Given the description of an element on the screen output the (x, y) to click on. 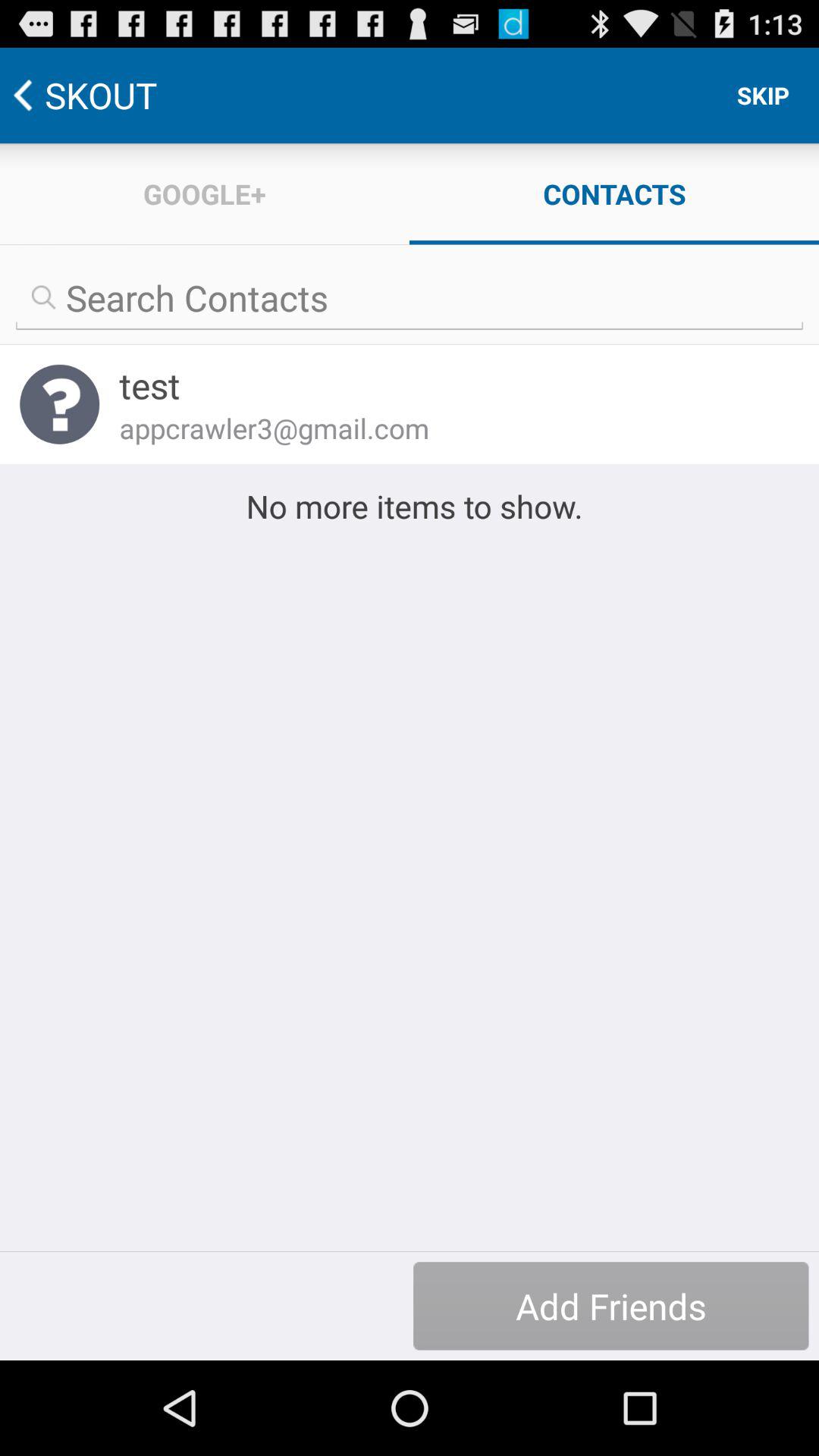
jump to the add friends icon (610, 1306)
